Given the description of an element on the screen output the (x, y) to click on. 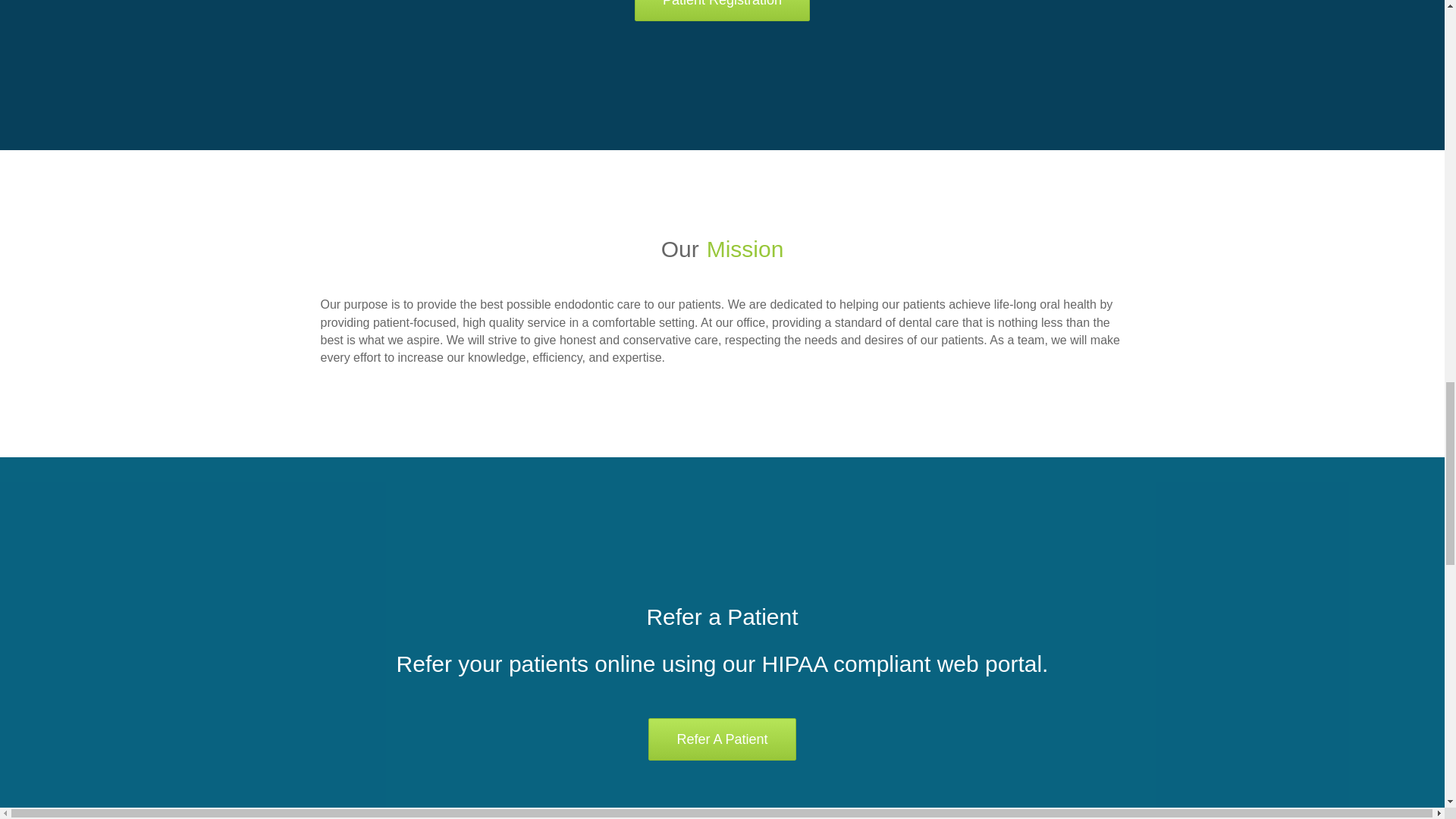
Patient Registration (721, 10)
Refer A Patient (720, 739)
